Given the description of an element on the screen output the (x, y) to click on. 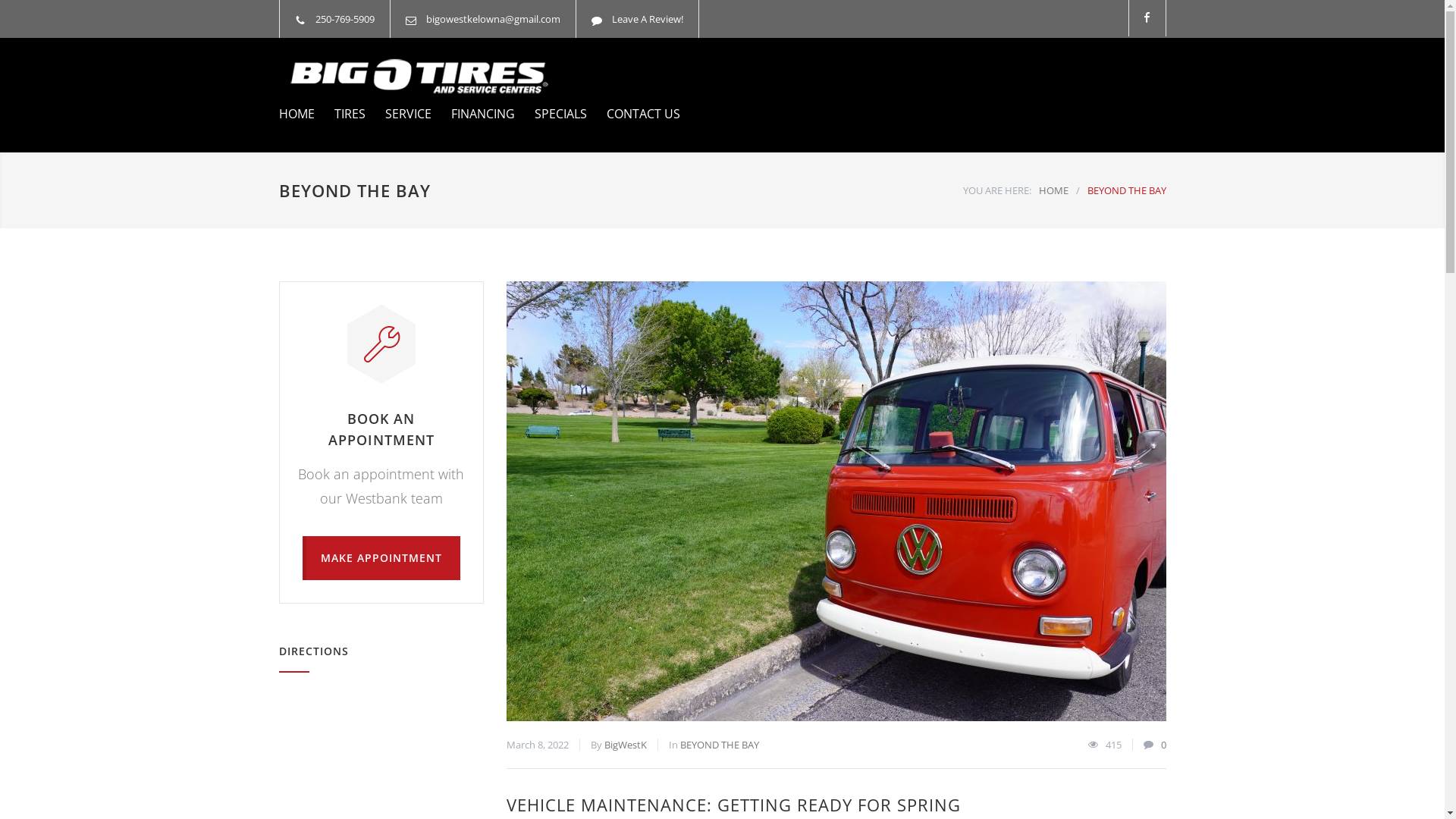
MAKE APPOINTMENT Element type: text (380, 558)
0 Element type: text (1162, 744)
BEYOND THE BAY Element type: text (718, 744)
Vehicle Maintenance: Getting Ready For Spring Element type: hover (836, 501)
Big O Tires West Kelowna Element type: hover (419, 75)
HOME Element type: text (296, 113)
VEHICLE MAINTENANCE: GETTING READY FOR SPRING Element type: text (733, 804)
BigWestK Element type: text (624, 744)
CONTACT US Element type: text (633, 113)
TIRES Element type: text (338, 113)
bigowestkelowna@gmail.com Element type: text (493, 18)
SERVICE Element type: text (398, 113)
FINANCING Element type: text (472, 113)
Leave A Review! Element type: text (646, 18)
SPECIALS Element type: text (550, 113)
HOME Element type: text (1053, 190)
